Given the description of an element on the screen output the (x, y) to click on. 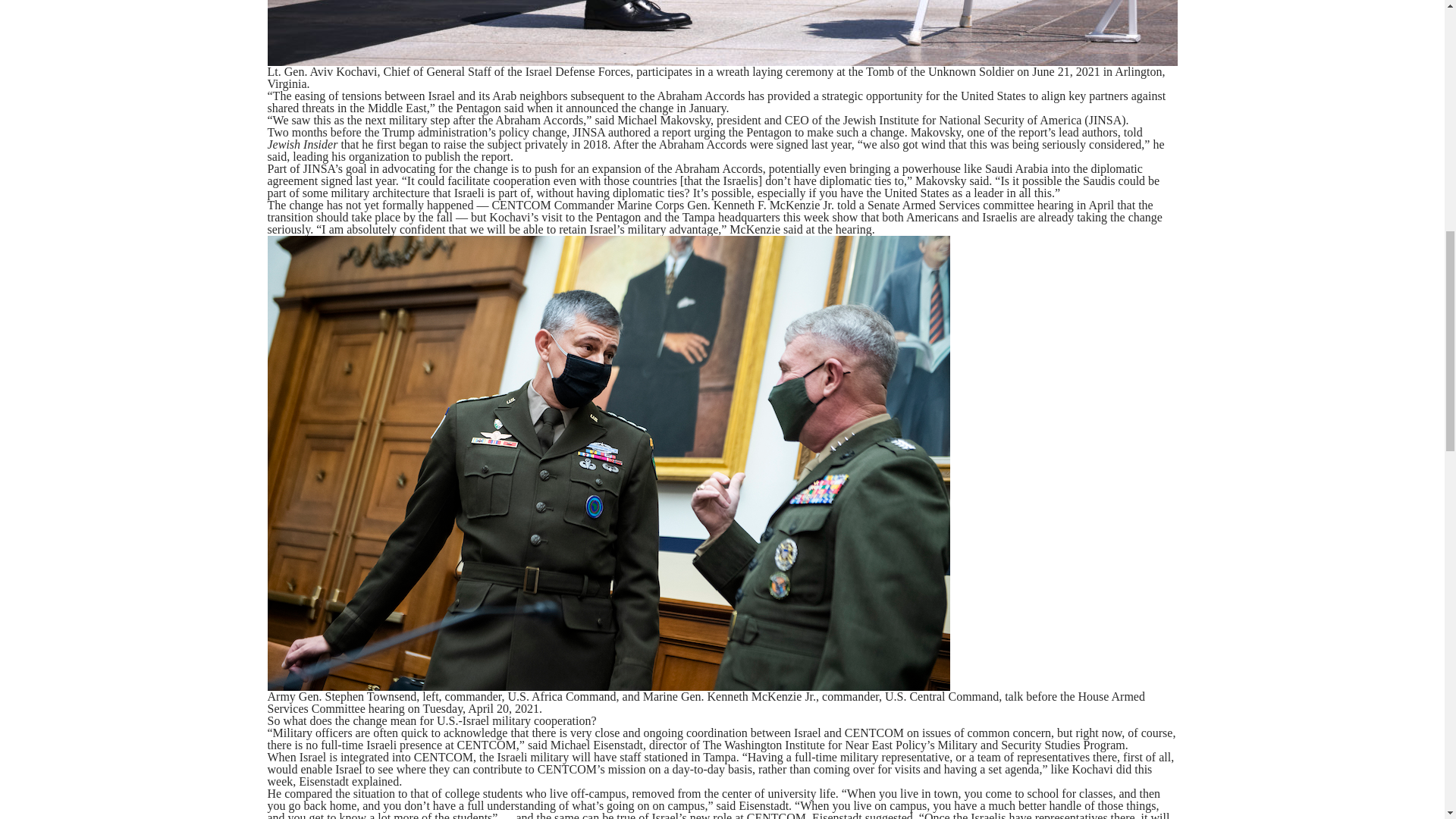
said at the hearing (827, 228)
authored (629, 132)
Pentagon said (488, 107)
